Given the description of an element on the screen output the (x, y) to click on. 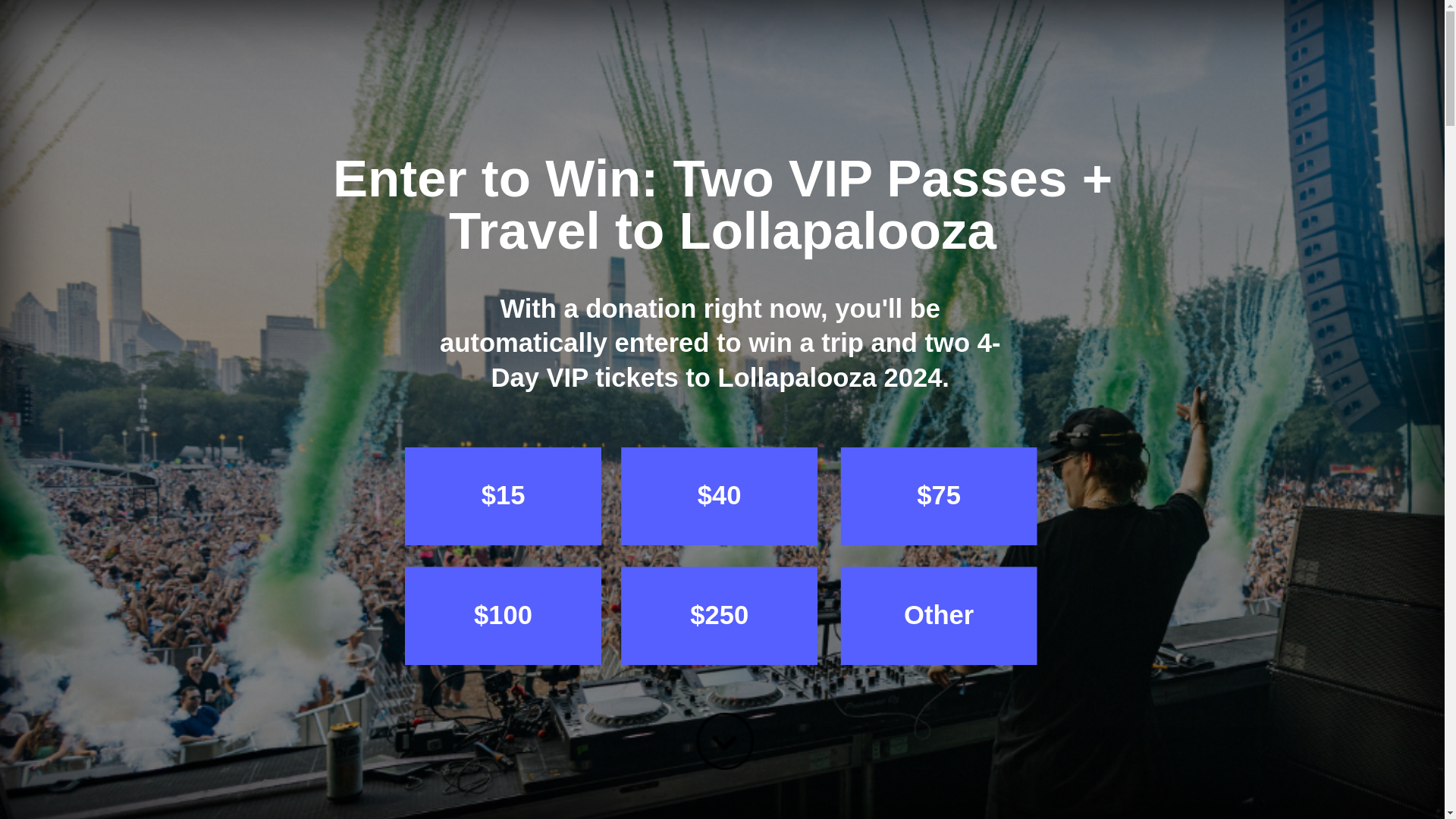
Other (885, 588)
